Given the description of an element on the screen output the (x, y) to click on. 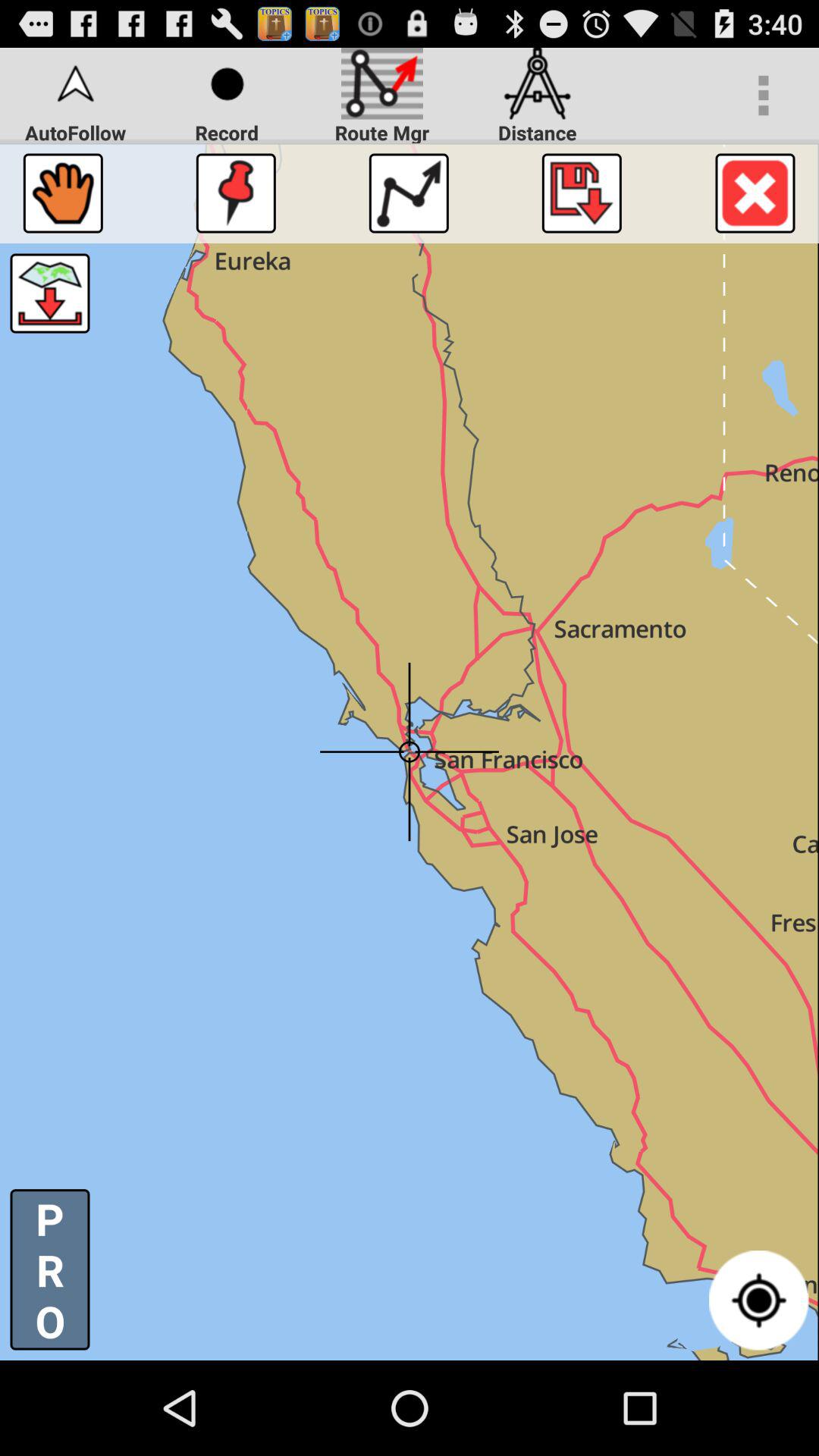
select the item at the bottom left corner (49, 1269)
